Given the description of an element on the screen output the (x, y) to click on. 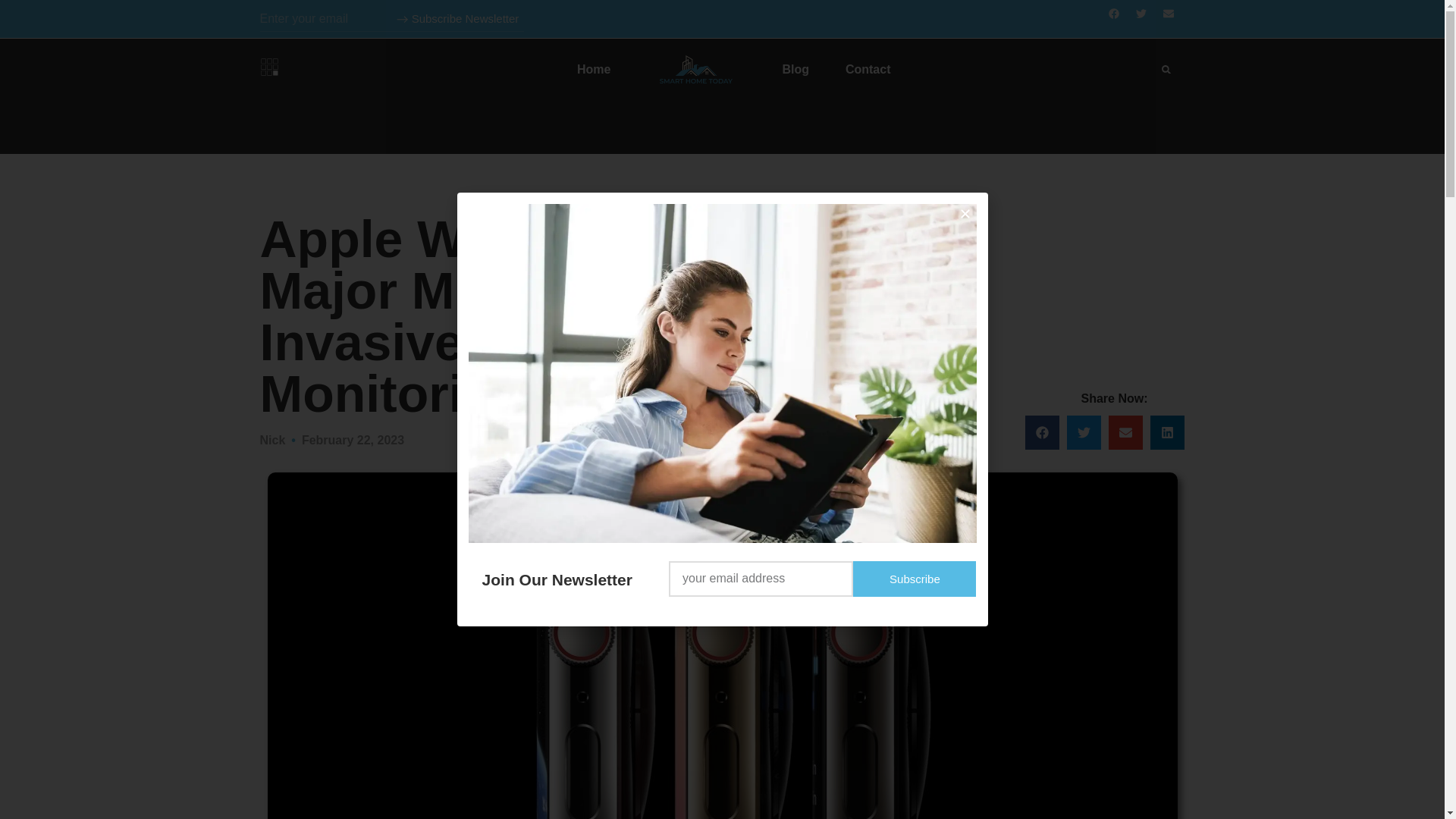
Subscribe Newsletter (456, 18)
Contact (868, 69)
